Given the description of an element on the screen output the (x, y) to click on. 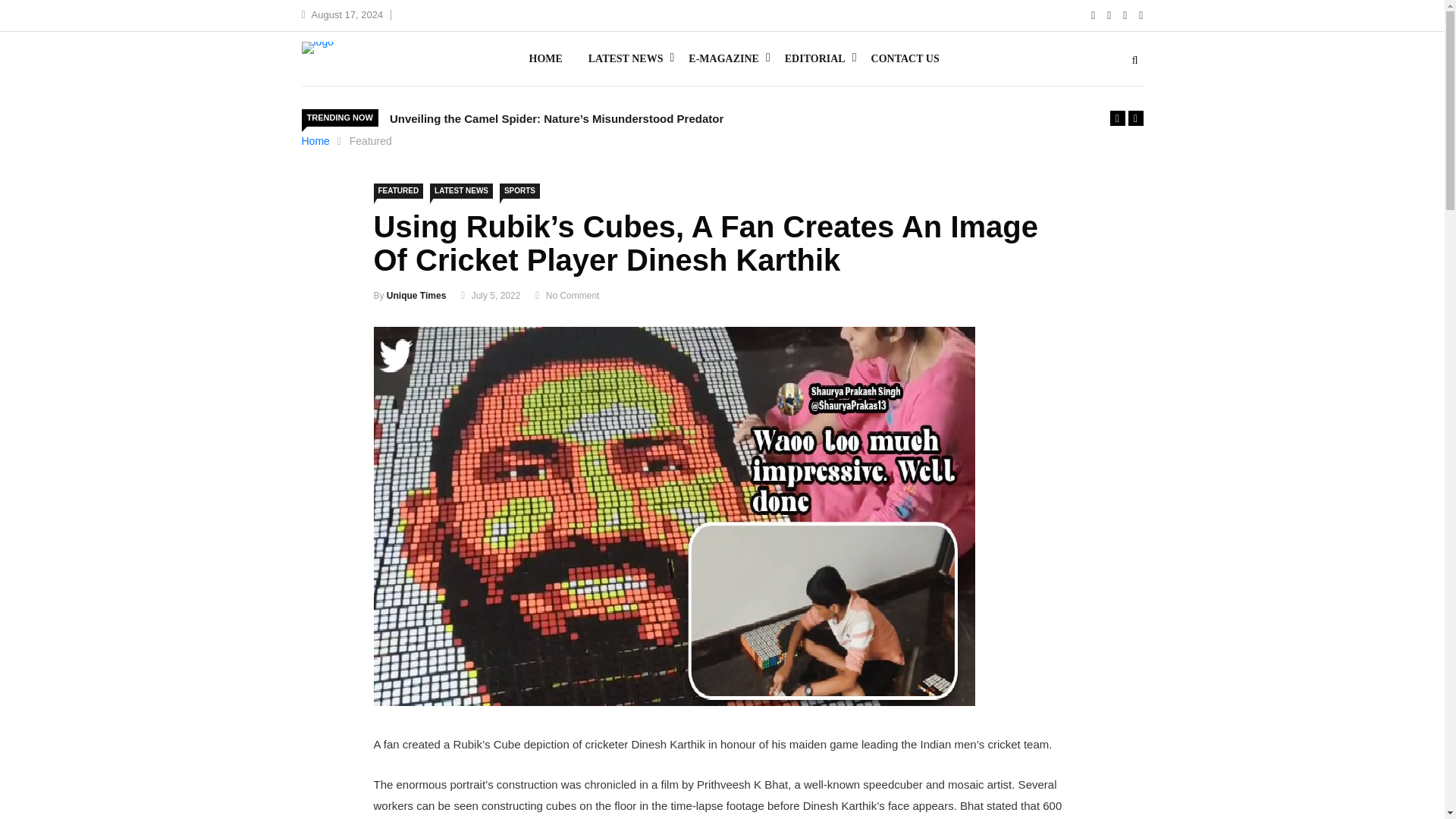
HOME (544, 58)
SPORTS (519, 191)
LATEST NEWS (625, 58)
LATEST NEWS (461, 191)
logo (317, 47)
CONTACT US (905, 58)
No Comment (572, 295)
Featured (370, 141)
E-MAGAZINE (723, 58)
EDITORIAL (815, 58)
